Given the description of an element on the screen output the (x, y) to click on. 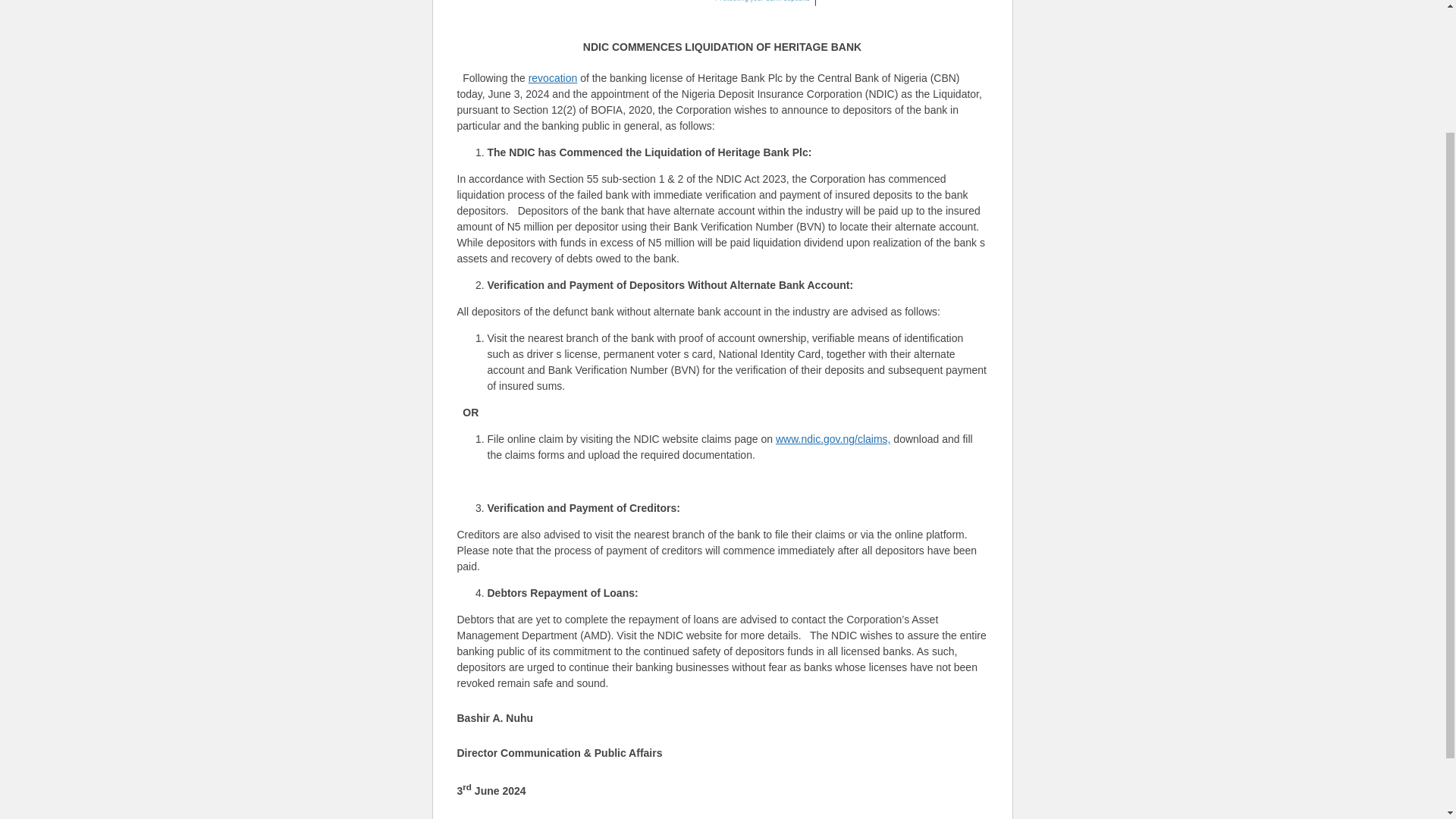
revocation (553, 78)
